Given the description of an element on the screen output the (x, y) to click on. 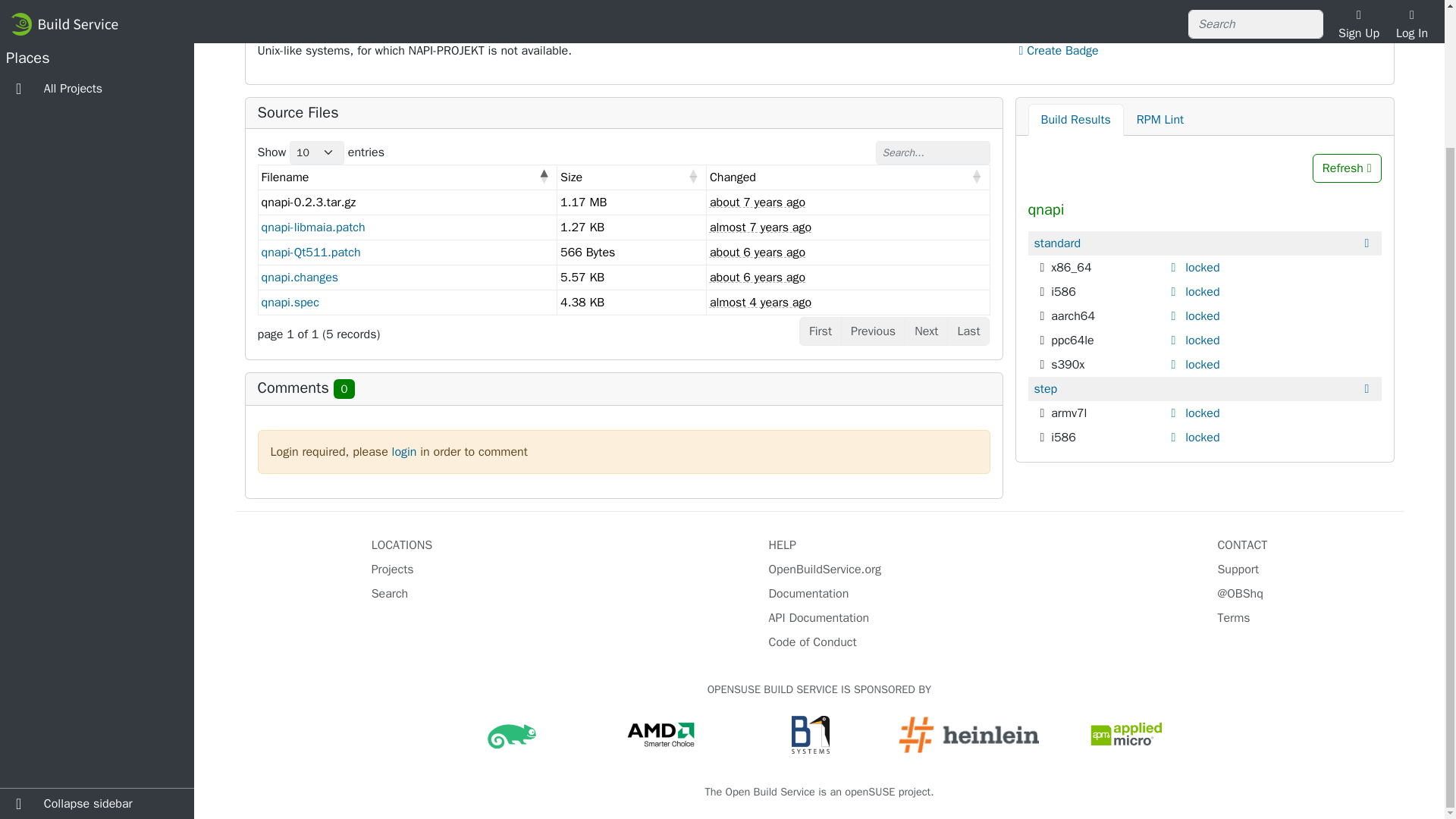
Last (968, 330)
Click to keep it open (1175, 364)
First (820, 330)
RPM Lint (1160, 119)
locked (1202, 267)
Click to keep it open (1175, 291)
Previous (873, 330)
Checkout Package (1071, 32)
locked (1202, 412)
locked (1202, 364)
qnapi.changes (298, 277)
Binaries for standard (1057, 243)
locked (1202, 437)
Click to keep it open (1175, 340)
Click to keep it open (1175, 267)
